Given the description of an element on the screen output the (x, y) to click on. 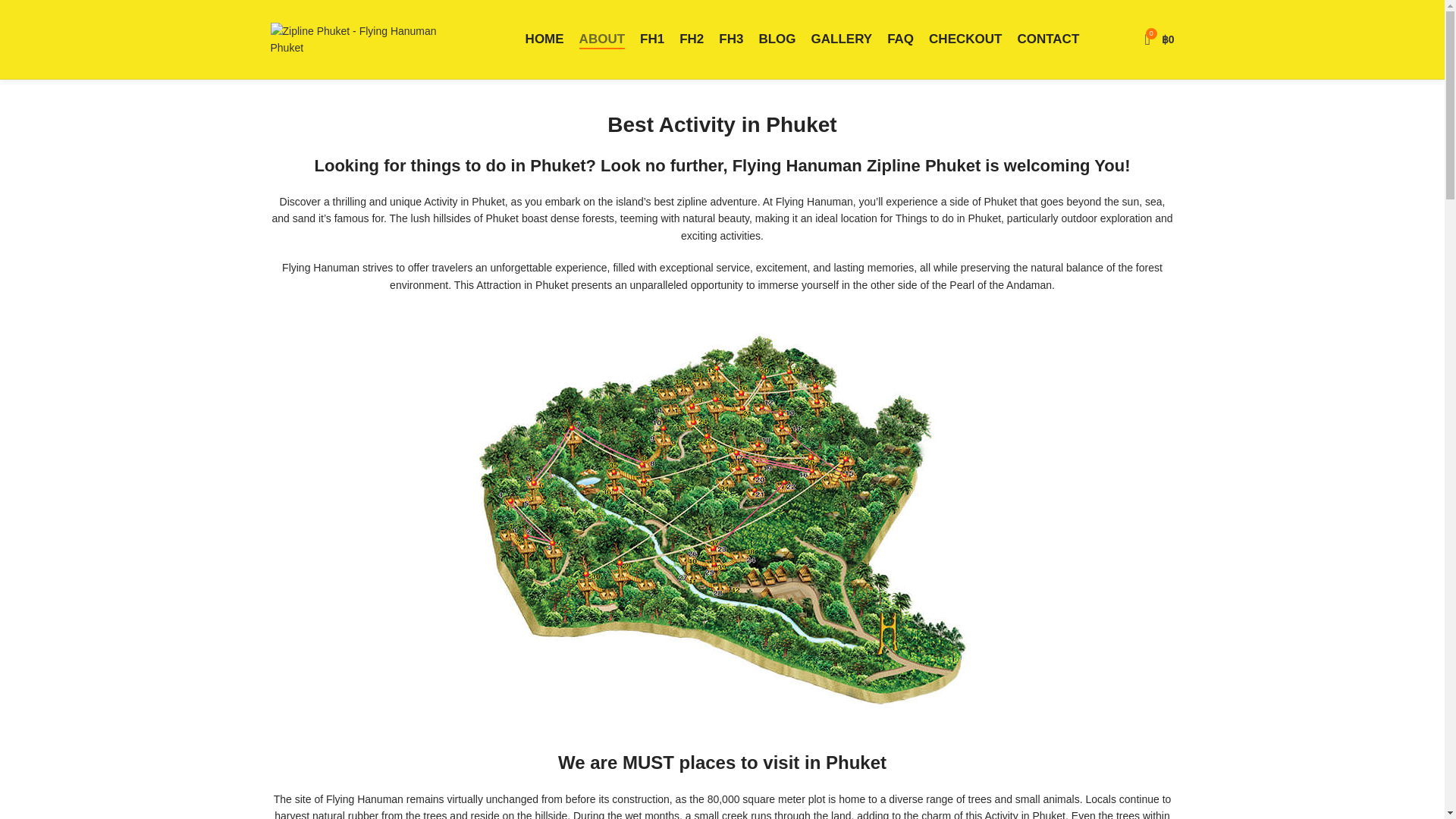
Shopping cart (1158, 39)
GALLERY (841, 39)
ABOUT (601, 39)
CONTACT (1047, 39)
HOME (544, 39)
BLOG (776, 39)
Activity in Phuket (748, 124)
CHECKOUT (964, 39)
